Given the description of an element on the screen output the (x, y) to click on. 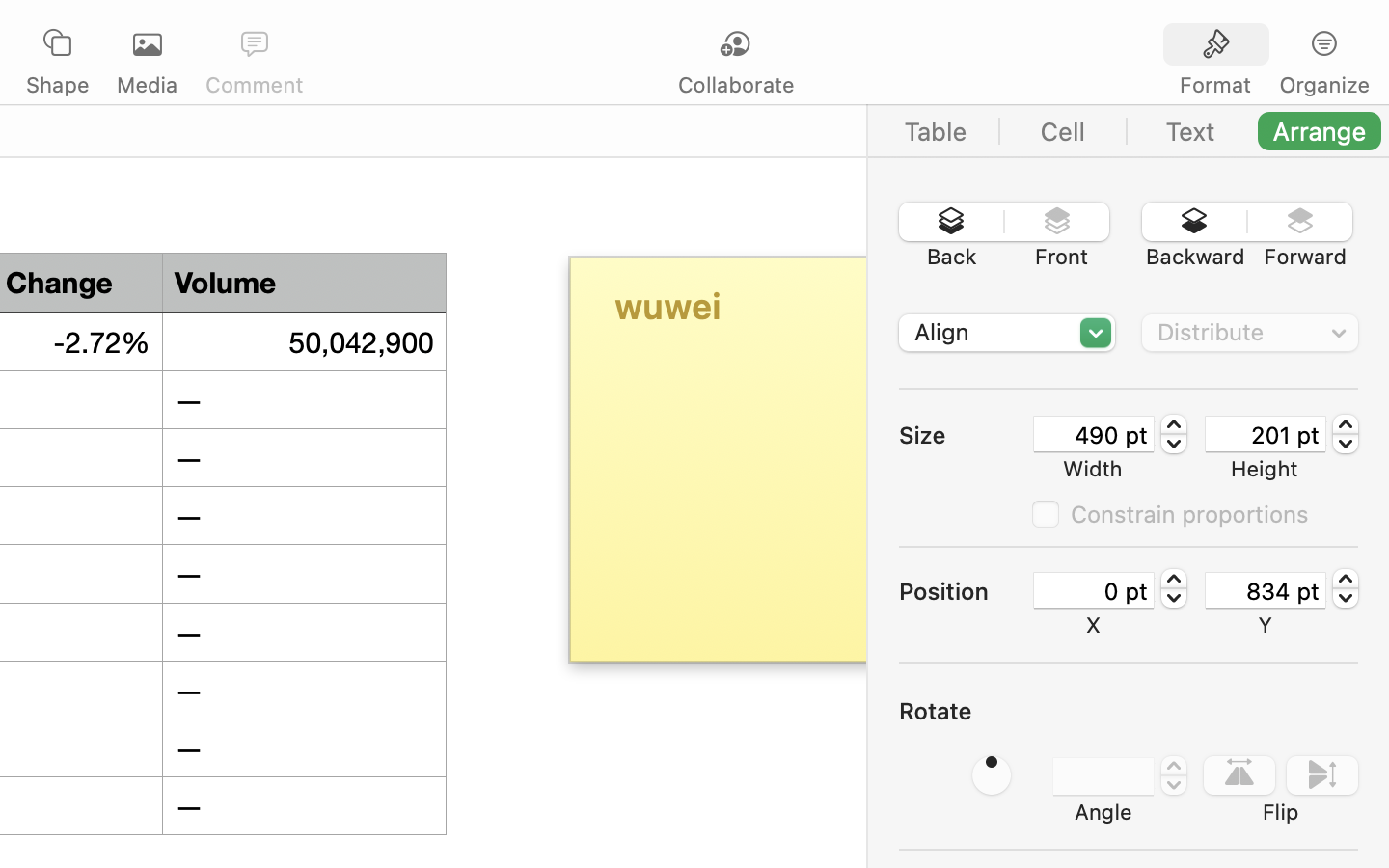
Format Element type: AXStaticText (1215, 84)
0.0 Element type: AXSlider (991, 775)
Position Element type: AXStaticText (964, 590)
201.47987055778503 Element type: AXIncrementor (1345, 433)
201 pt Element type: AXTextField (1265, 433)
